Given the description of an element on the screen output the (x, y) to click on. 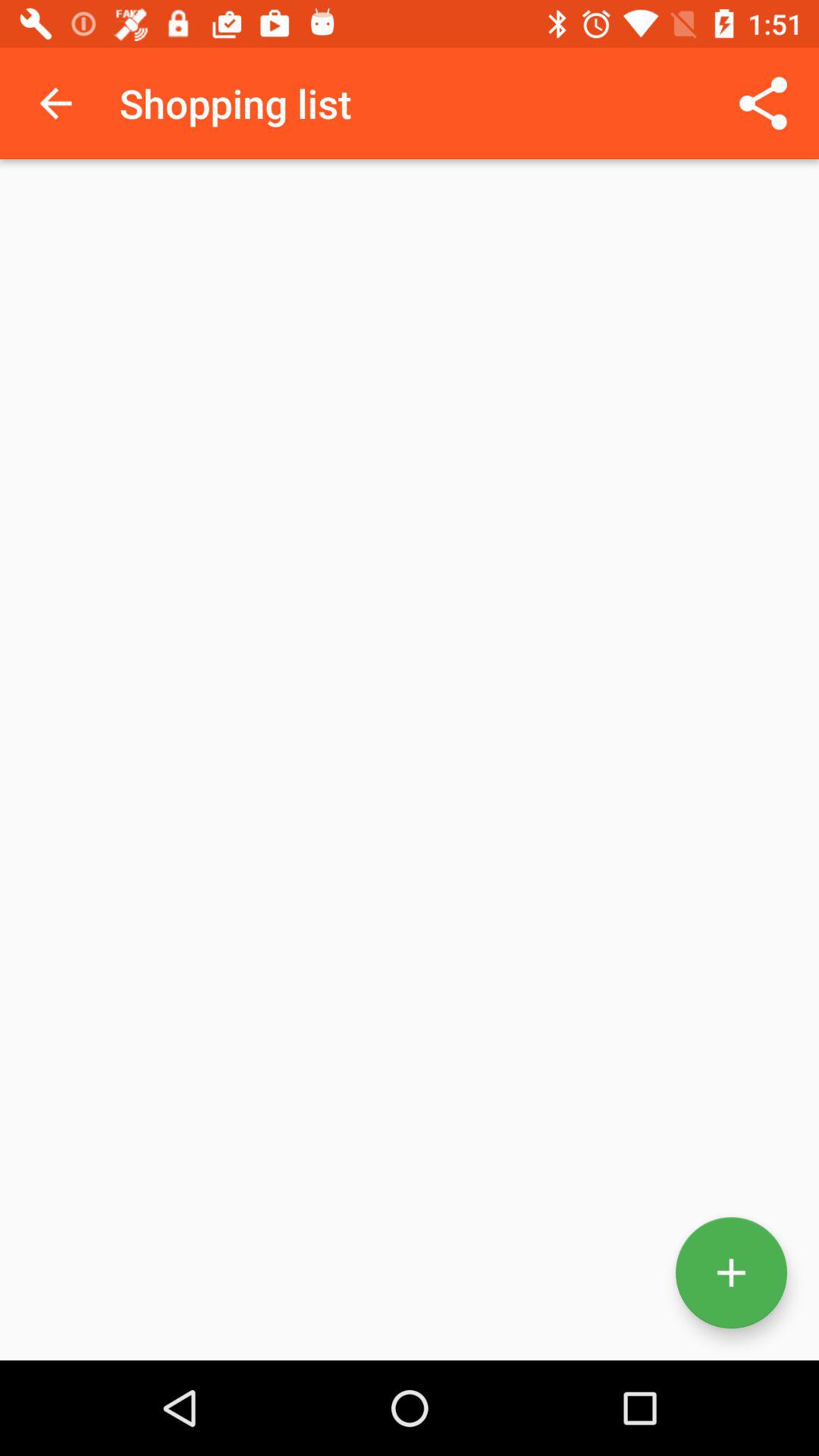
press icon at the bottom right corner (731, 1272)
